Given the description of an element on the screen output the (x, y) to click on. 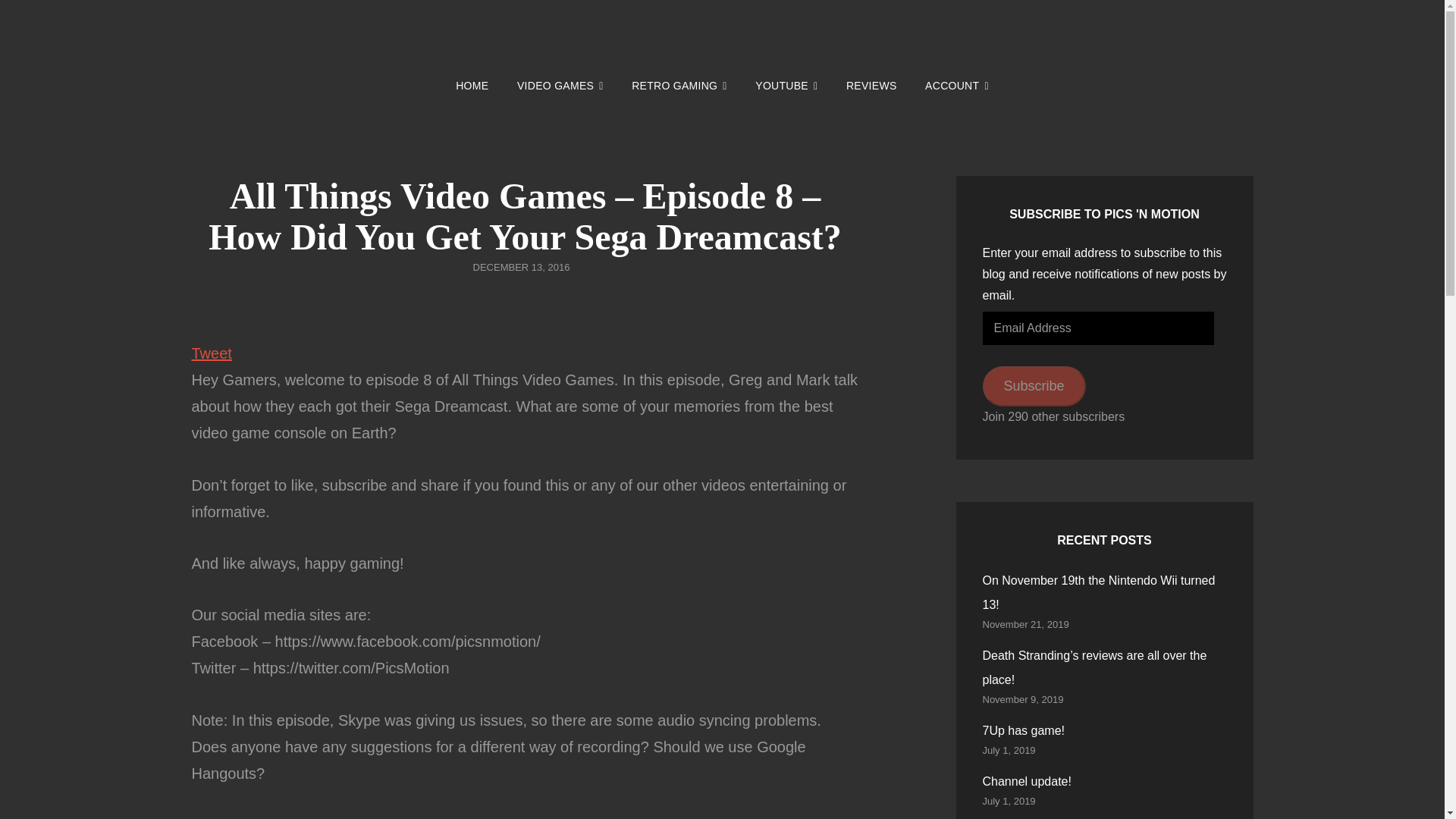
VIDEO GAMES (560, 85)
YOUTUBE (785, 85)
DECEMBER 13, 2016 (521, 266)
PICS N MOTION (893, 53)
ACCOUNT (956, 85)
RETRO GAMING (679, 85)
Tweet (210, 352)
HOME (472, 85)
REVIEWS (871, 85)
